Given the description of an element on the screen output the (x, y) to click on. 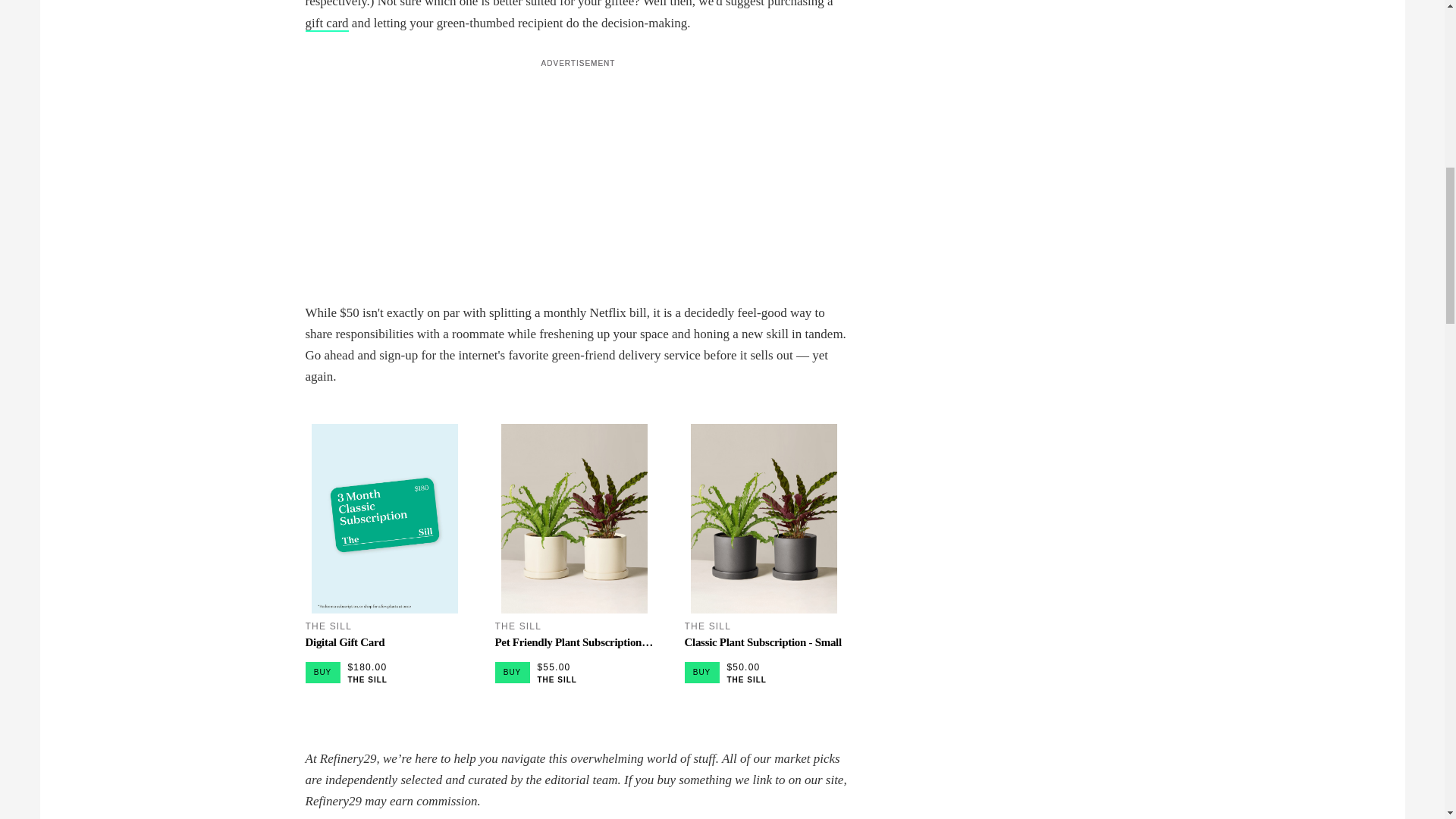
BUY (512, 672)
gift card (325, 23)
BUY (321, 672)
BUY (701, 672)
